Given the description of an element on the screen output the (x, y) to click on. 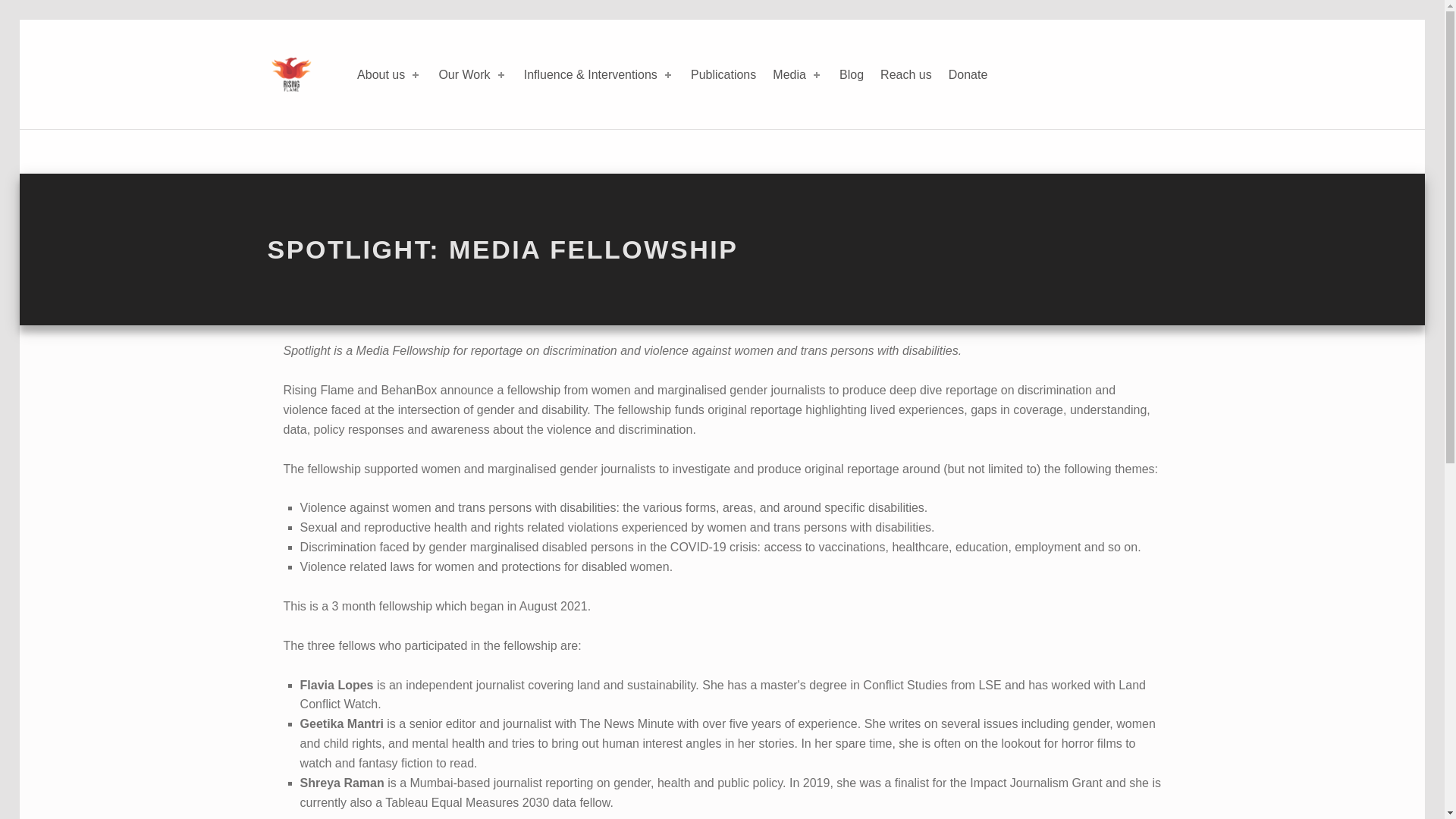
Publications (722, 74)
About us (389, 74)
Blog (850, 74)
Our Work (472, 74)
Donate (967, 74)
Media (797, 74)
Reach us (906, 74)
